Given the description of an element on the screen output the (x, y) to click on. 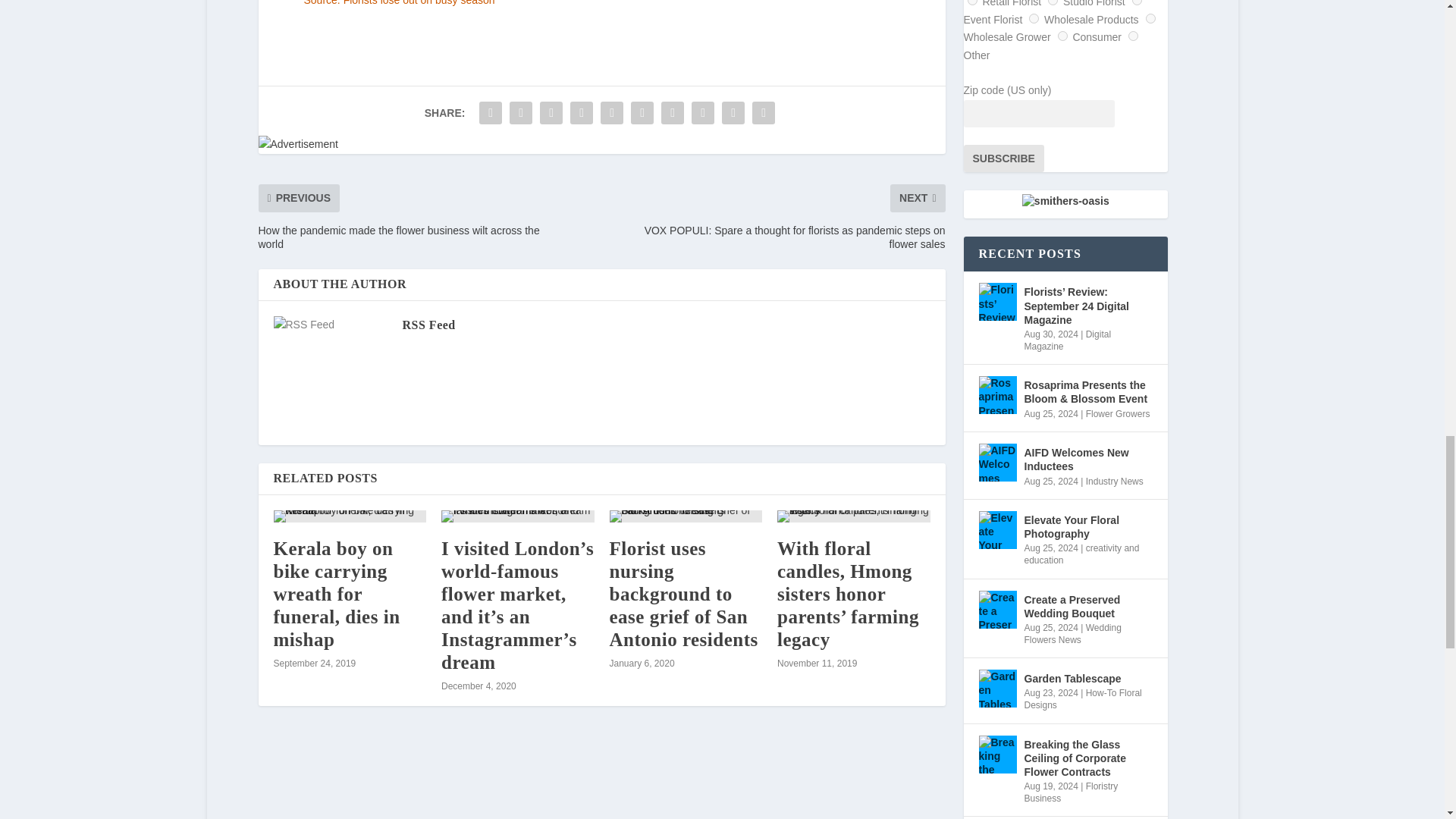
Share "Florists lose out on busy season" via LinkedIn (642, 112)
Share "Florists lose out on busy season" via Buffer (672, 112)
Share "Florists lose out on busy season" via Email (732, 112)
Share "Florists lose out on busy season" via Facebook (490, 112)
Share "Florists lose out on busy season" via Pinterest (611, 112)
Share "Florists lose out on busy season" via Stumbleupon (702, 112)
Share "Florists lose out on busy season" via Twitter (520, 112)
Share "Florists lose out on busy season" via Tumblr (581, 112)
Retail Florist (972, 2)
